Given the description of an element on the screen output the (x, y) to click on. 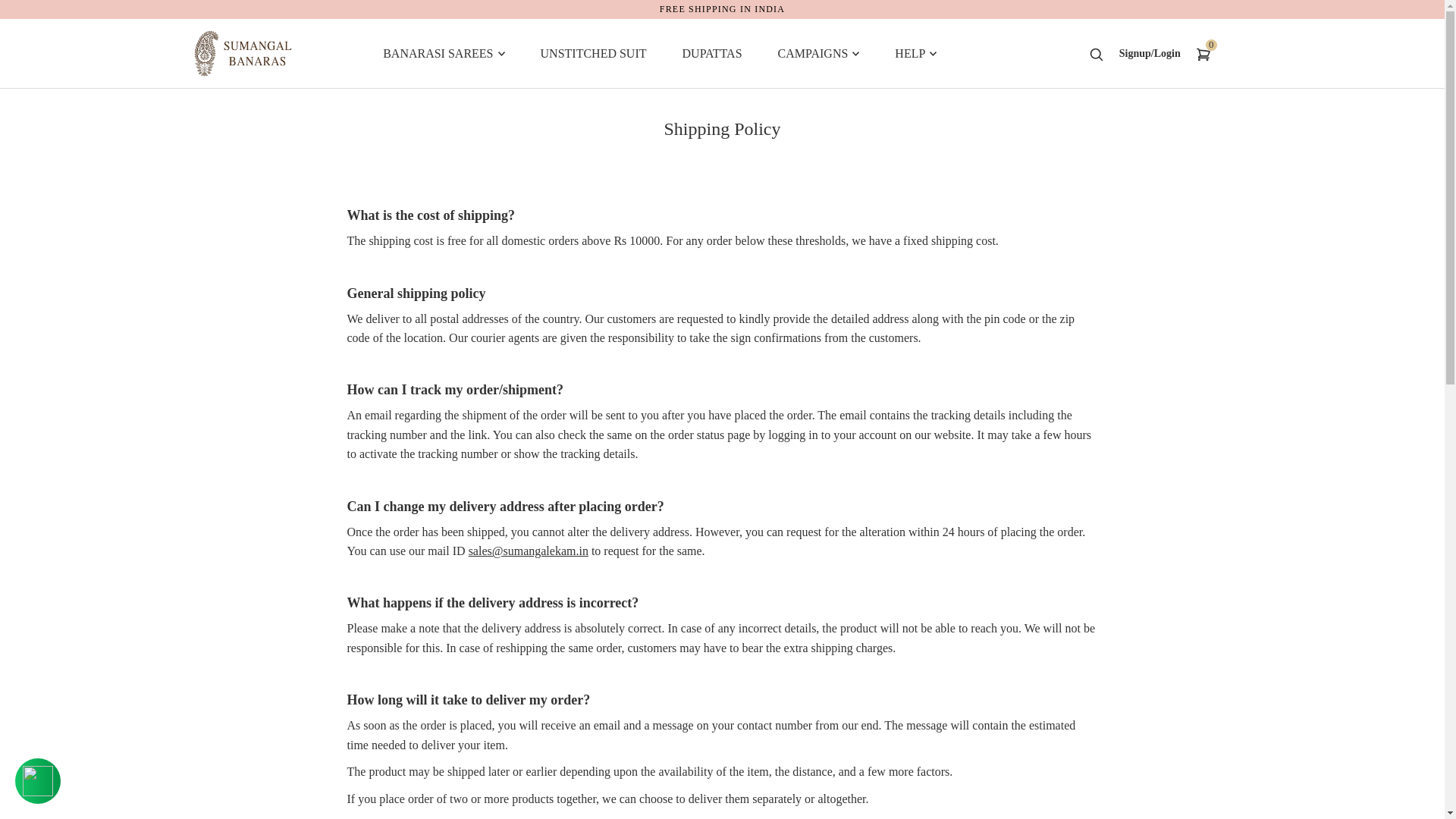
BANARASI SAREES (442, 53)
